Given the description of an element on the screen output the (x, y) to click on. 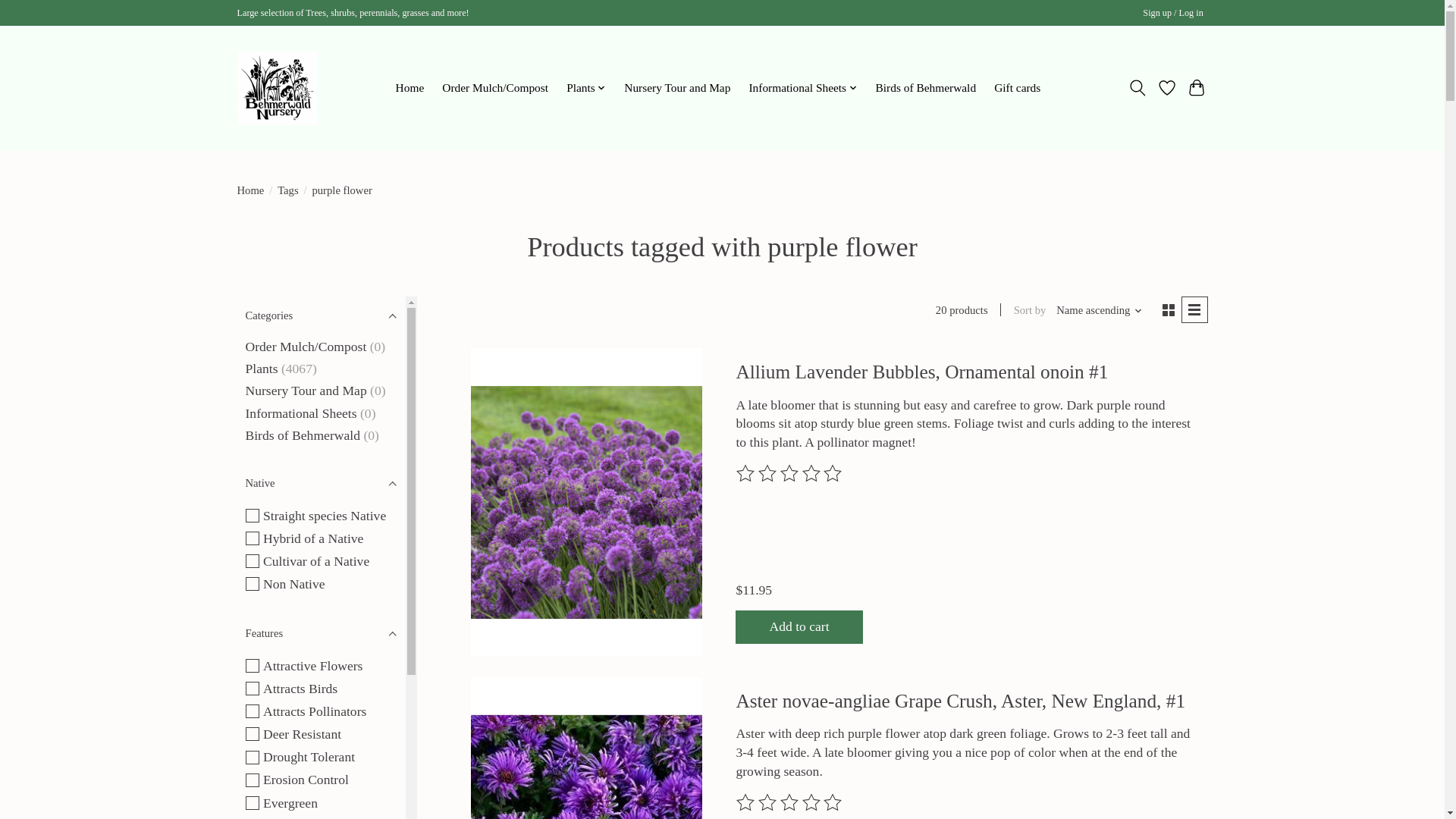
Plants (585, 87)
Home (409, 87)
My account (1173, 13)
Nursery Tour and Map (677, 87)
Informational Sheets (802, 87)
